Given the description of an element on the screen output the (x, y) to click on. 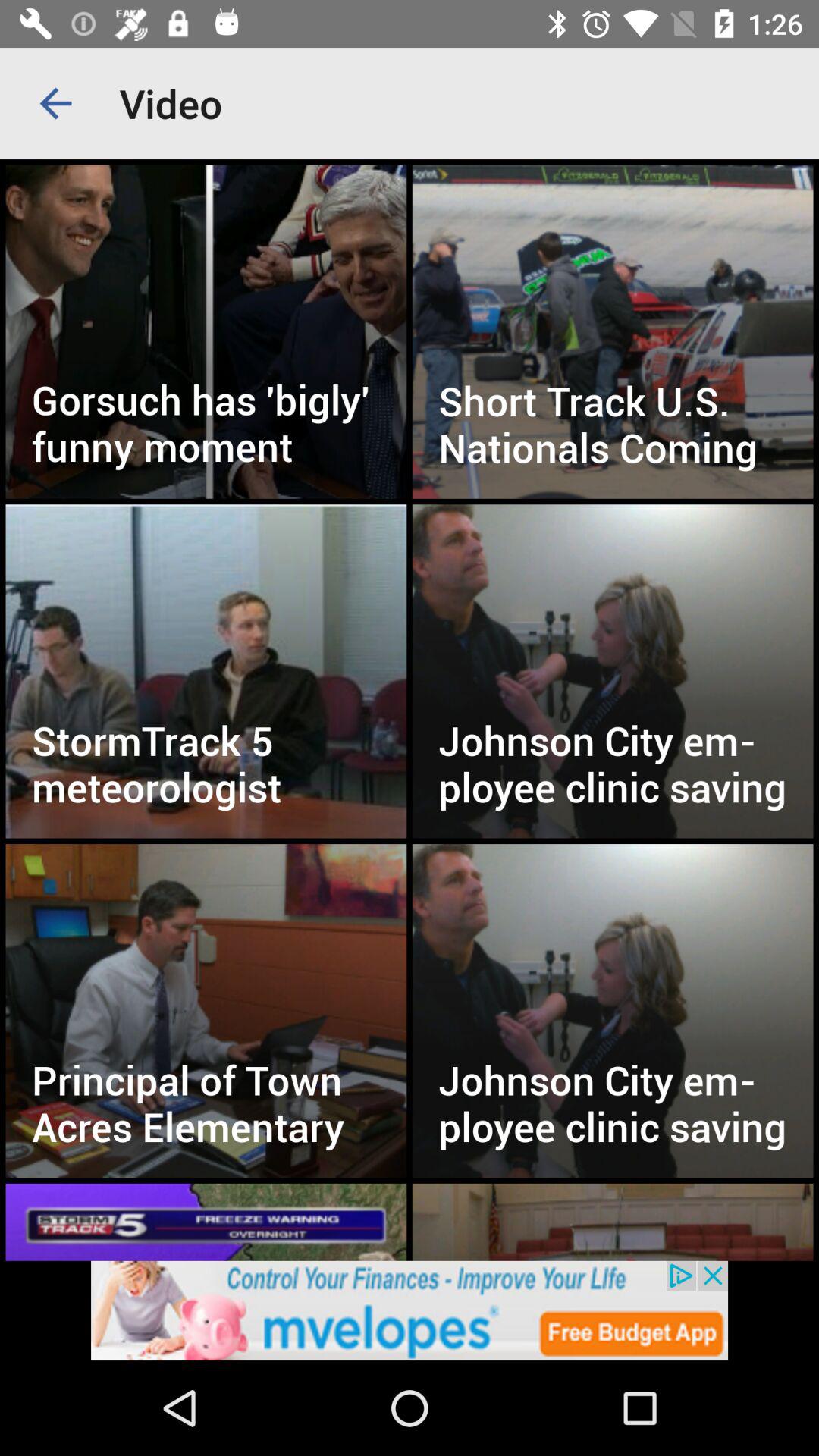
open advertisement (409, 1310)
